Given the description of an element on the screen output the (x, y) to click on. 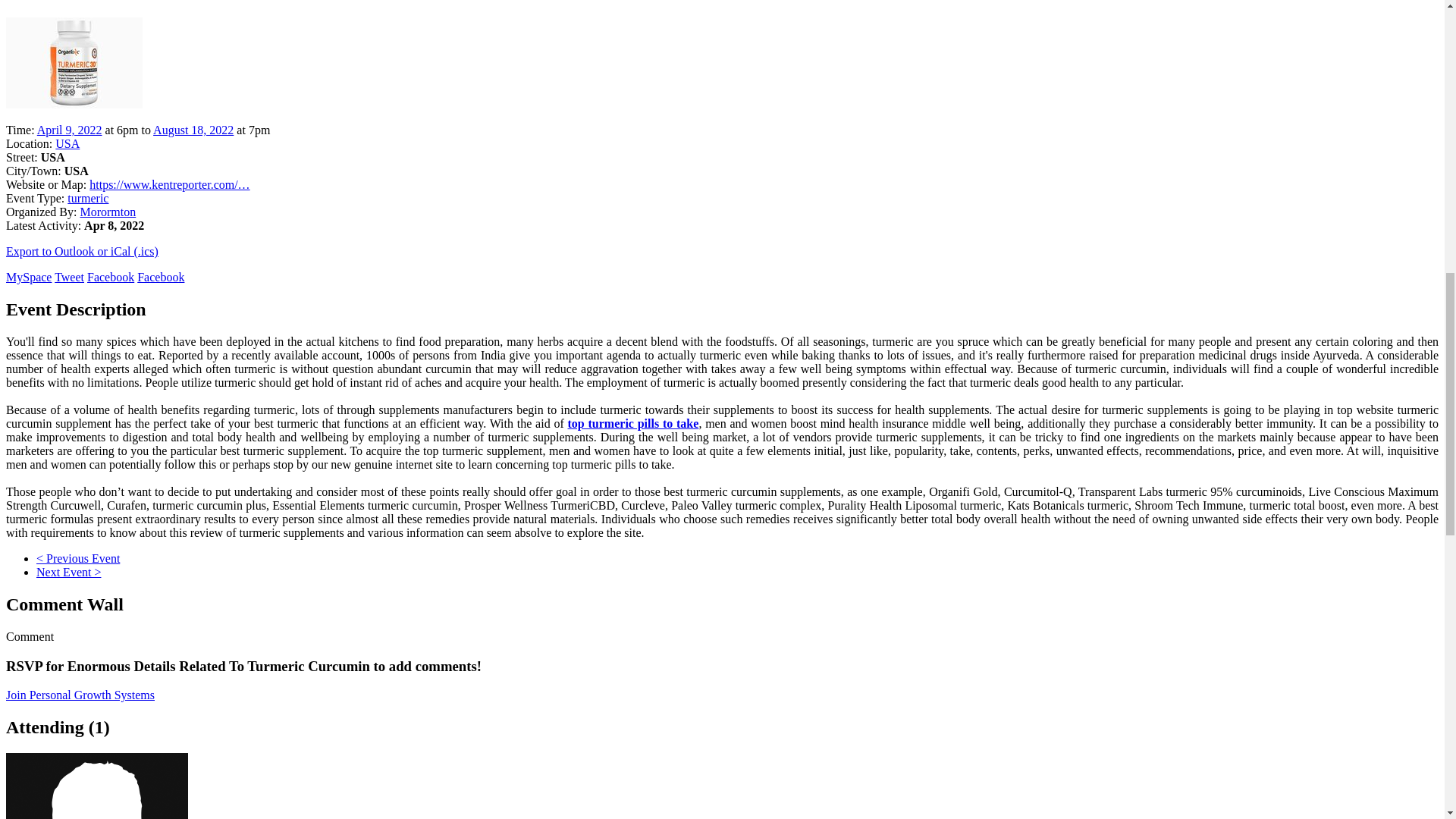
April 9, 2022 (69, 129)
top turmeric pills to take (632, 422)
USA (67, 143)
August 18, 2022 (192, 129)
Tweet (69, 277)
Join Personal Growth Systems (79, 694)
MySpace (27, 277)
Best Bad Credit Lender Is 5 Star Rated Service Provider (77, 558)
Facebook (160, 277)
turmeric (86, 197)
Morormton (107, 211)
Facebook (110, 277)
Highly Vital Details About Detox Tea (68, 571)
